Given the description of an element on the screen output the (x, y) to click on. 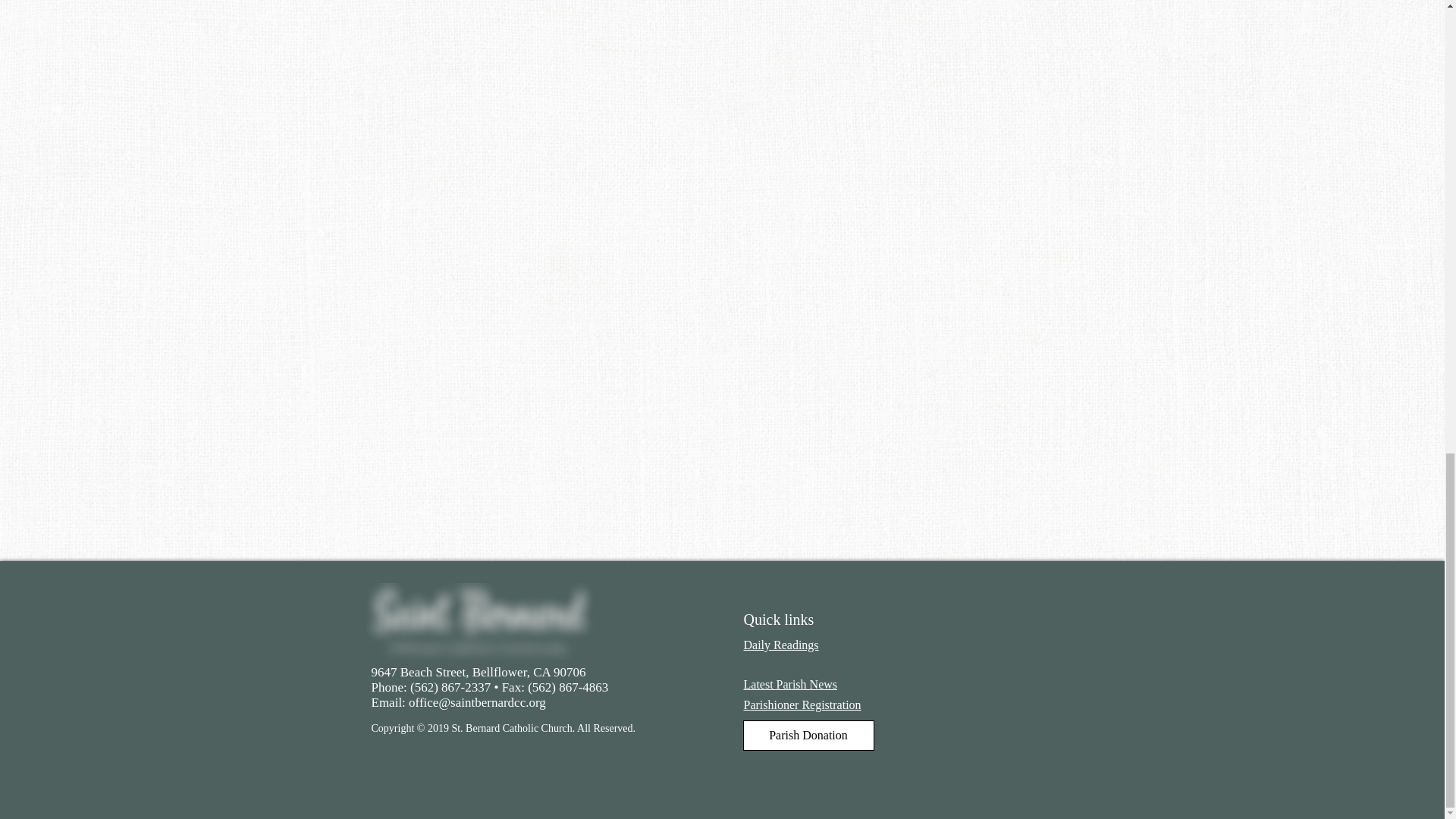
Parish Donation (808, 735)
Parishioner Registration (801, 704)
Latest Parish News (789, 684)
Daily Readings (780, 644)
